Given the description of an element on the screen output the (x, y) to click on. 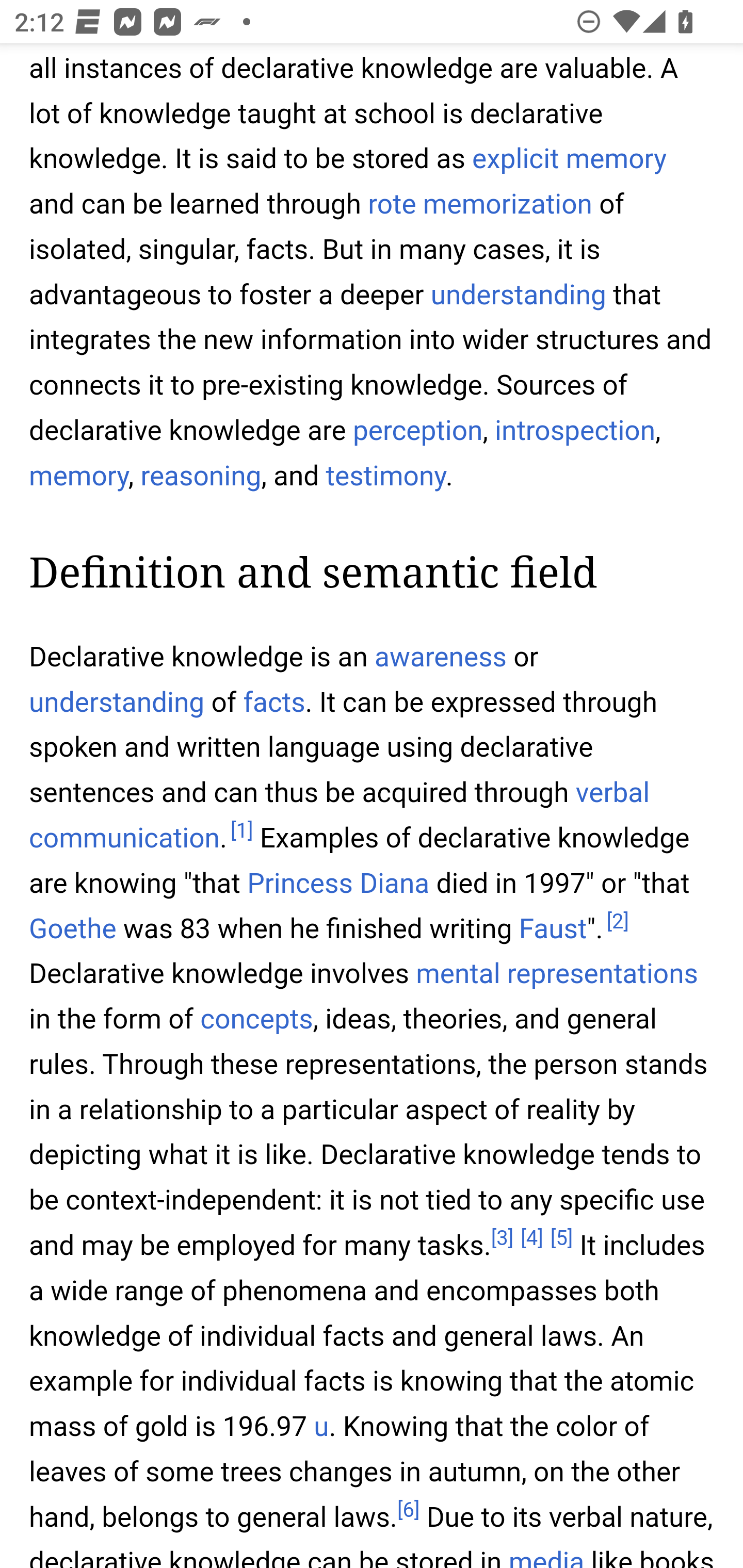
explicit memory (569, 160)
rote memorization (479, 206)
understanding (518, 296)
perception (417, 432)
introspection (575, 432)
memory (79, 476)
reasoning (199, 476)
testimony (385, 476)
awareness (440, 658)
understanding (116, 702)
facts (274, 702)
verbal communication (339, 816)
[] [ 1 ] (241, 832)
Princess Diana (338, 885)
[] [ 2 ] (617, 921)
Goethe (72, 930)
Faust (552, 930)
mental representations (556, 975)
concepts (256, 1020)
[] [ 3 ] (501, 1239)
[] [ 4 ] (531, 1239)
[] [ 5 ] (561, 1239)
u (320, 1428)
[] [ 6 ] (407, 1512)
